Given the description of an element on the screen output the (x, y) to click on. 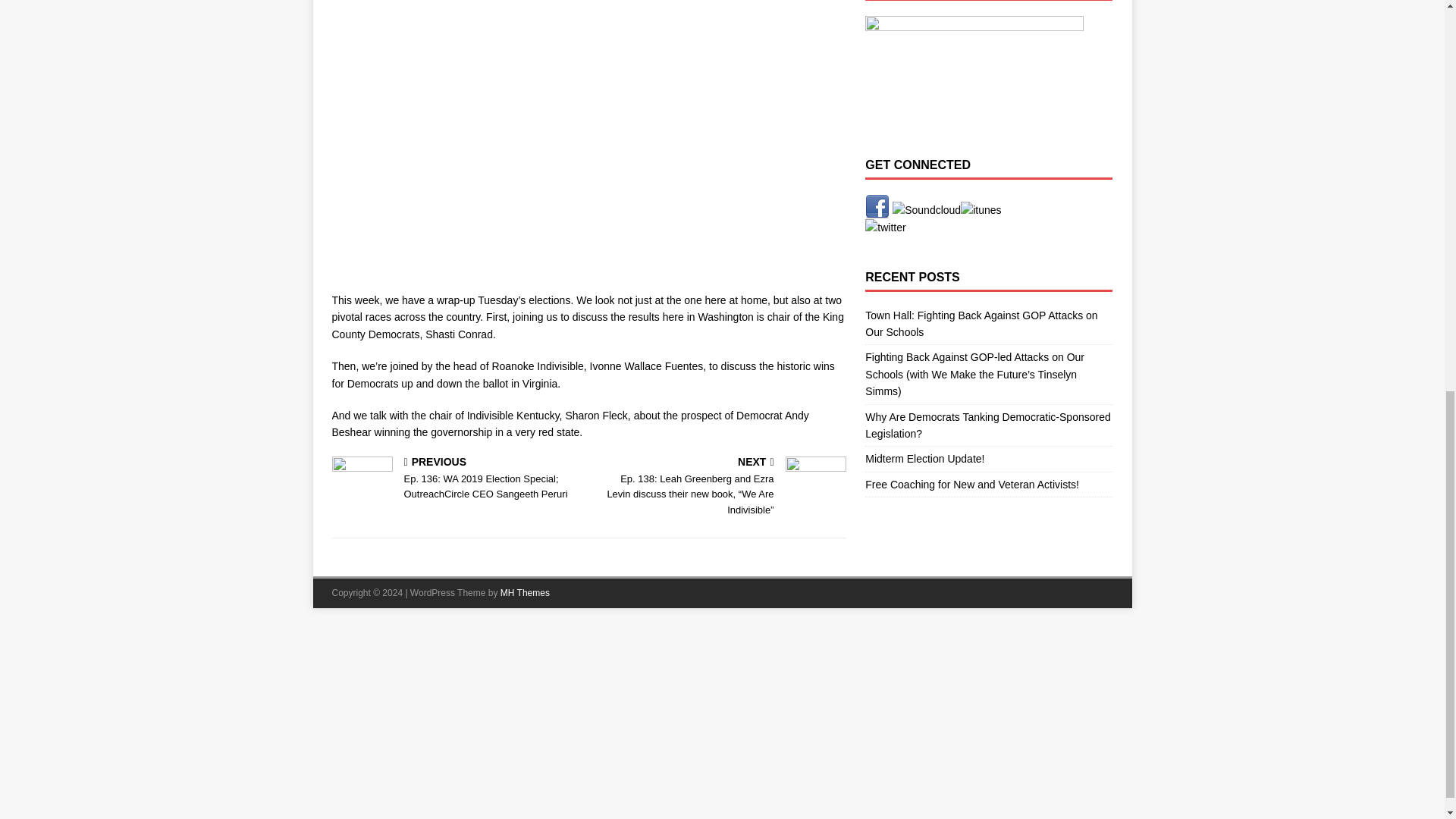
Why Are Democrats Tanking Democratic-Sponsored Legislation? (986, 425)
Midterm Election Update! (924, 458)
Town Hall: Fighting Back Against GOP Attacks on Our Schools (980, 323)
MH Themes (525, 593)
Free Coaching for New and Veteran Activists! (971, 484)
